Given the description of an element on the screen output the (x, y) to click on. 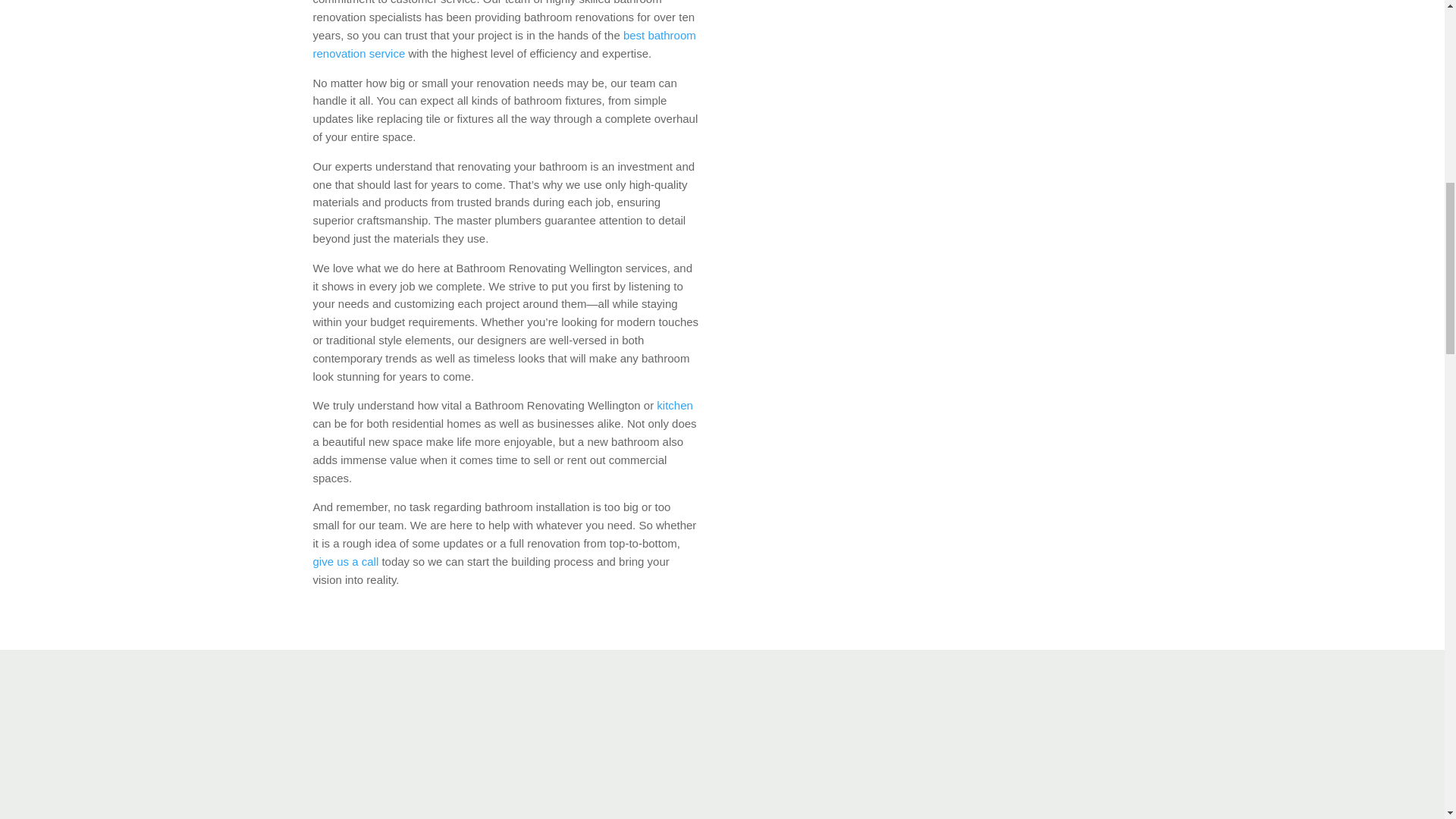
best bathroom renovation service (504, 43)
WTHN-Bath-2 (721, 744)
give us a call (345, 561)
WTHN-Bath-1 (433, 744)
kitchen (674, 404)
WTHN-Bath-3 (1009, 744)
